Given the description of an element on the screen output the (x, y) to click on. 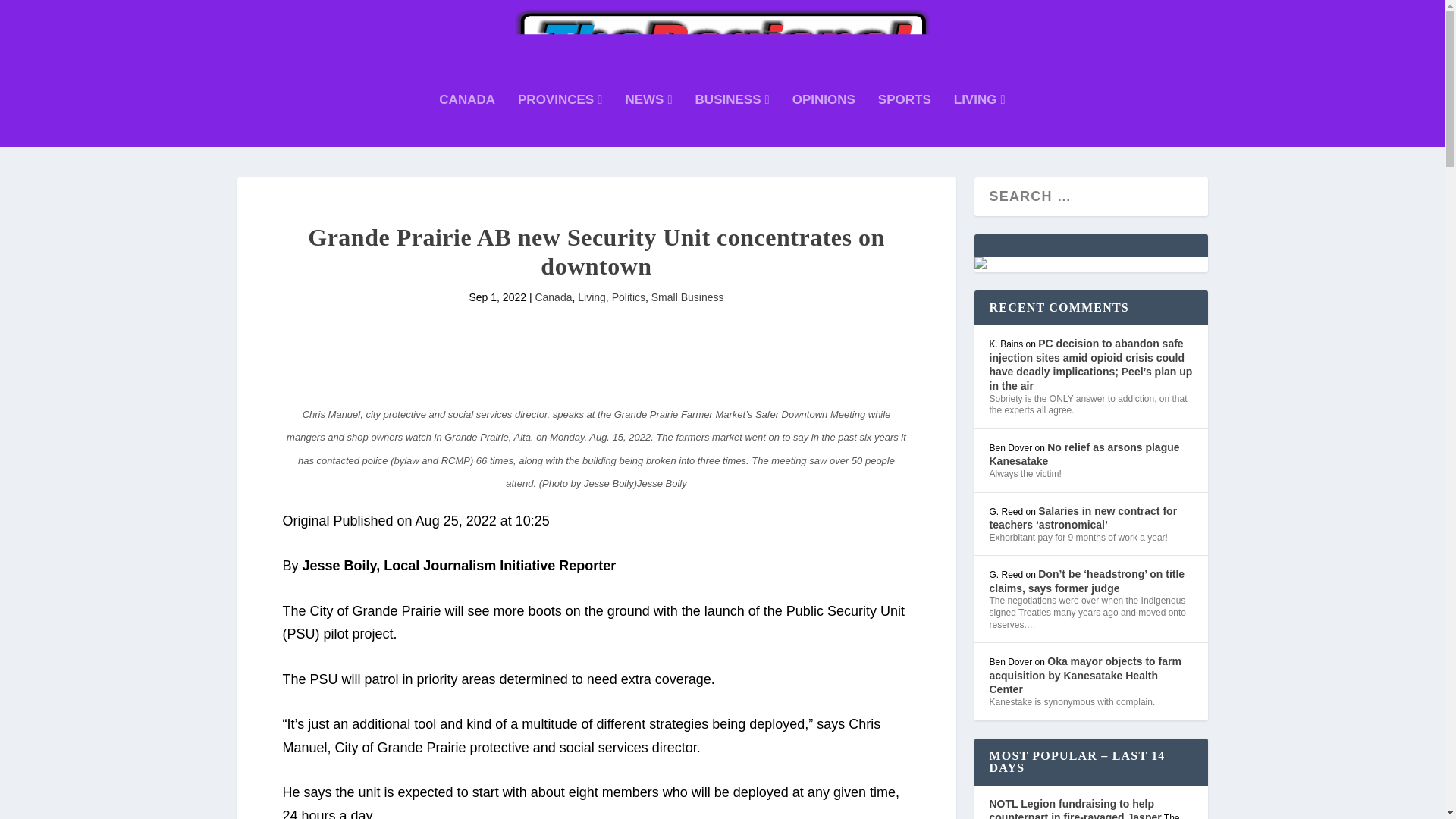
SPORTS (904, 120)
PROVINCES (560, 120)
Canada (553, 297)
Living (591, 297)
BUSINESS (732, 120)
Small Business (686, 297)
Politics (628, 297)
LIVING (979, 120)
CANADA (467, 120)
OPINIONS (824, 120)
